Given the description of an element on the screen output the (x, y) to click on. 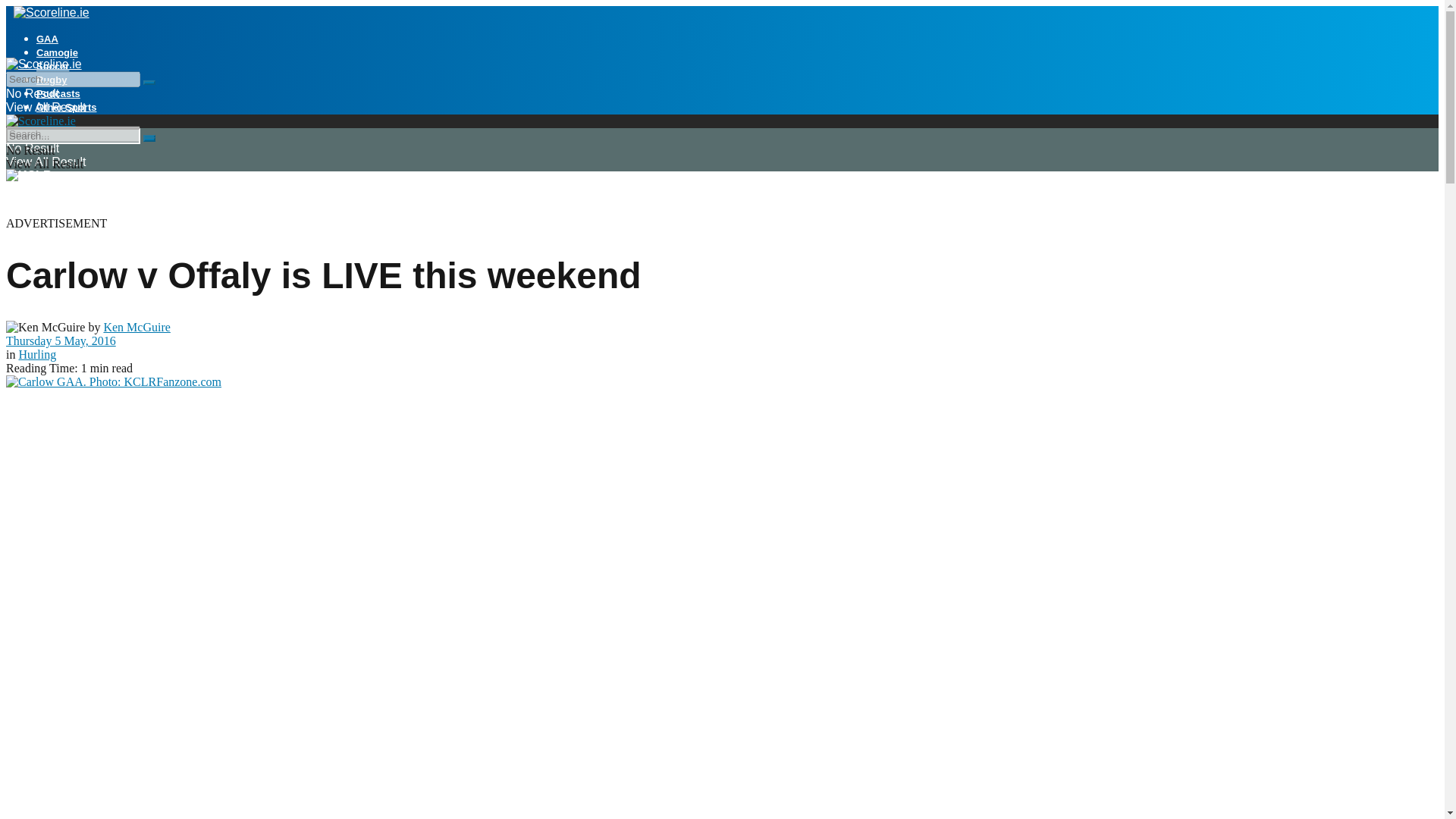
GAA (47, 39)
Other Sports (66, 107)
Hurling (36, 354)
Camogie (57, 52)
Ken McGuire (136, 327)
Thursday 5 May, 2016 (60, 340)
Rugby (51, 79)
Podcasts (58, 93)
Soccer (52, 66)
